Given the description of an element on the screen output the (x, y) to click on. 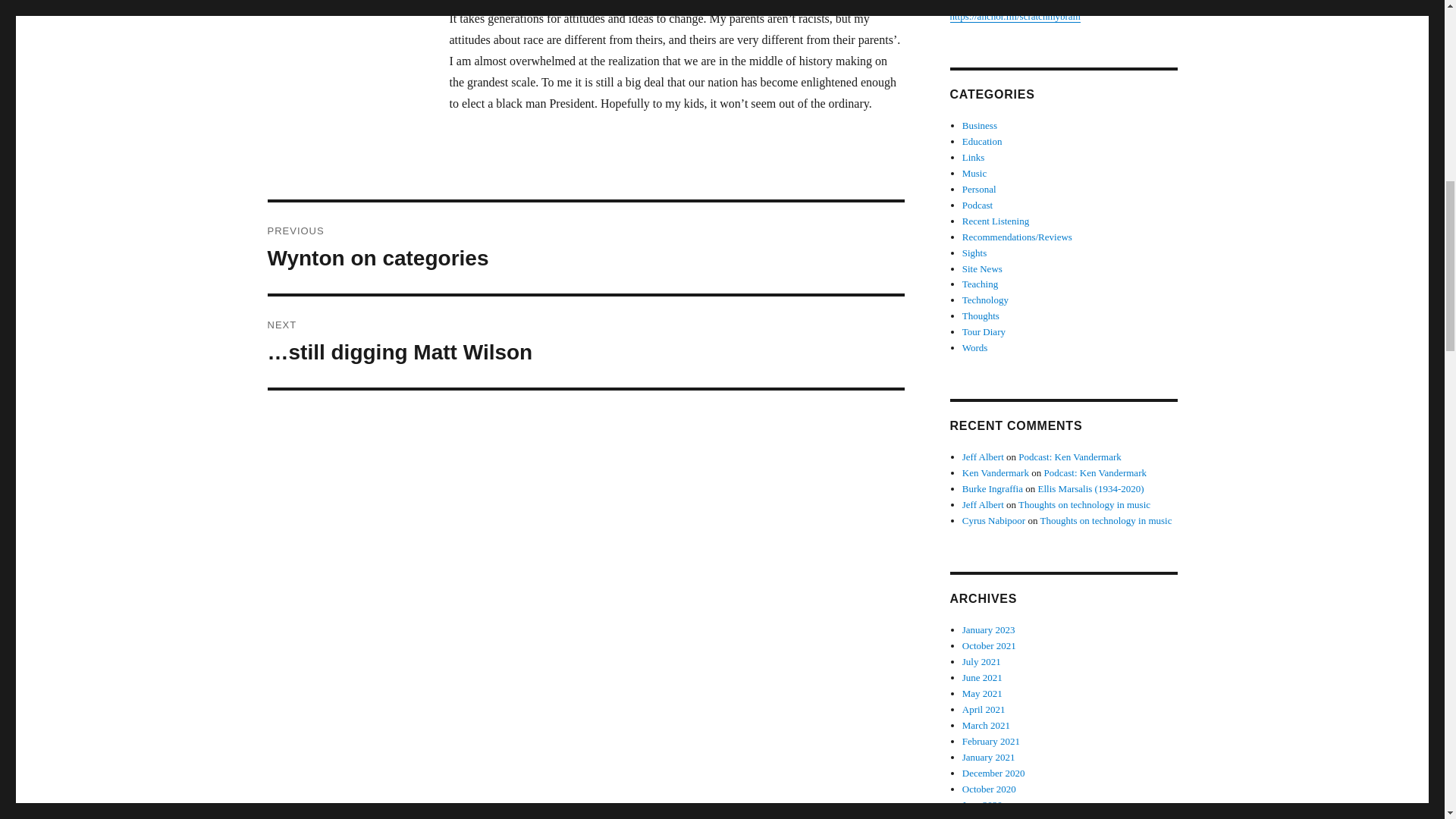
Thoughts (980, 315)
Tour Diary (984, 331)
Teaching (979, 283)
Business (979, 125)
Personal (978, 188)
Podcast (977, 204)
Music (974, 173)
Sights (974, 252)
Technology (985, 299)
Jeff Albert (983, 504)
Podcast: Ken Vandermark (1069, 456)
Education (982, 141)
Podcast: Ken Vandermark (1095, 472)
Thoughts on technology in music (1083, 504)
Jeff Albert (983, 456)
